Given the description of an element on the screen output the (x, y) to click on. 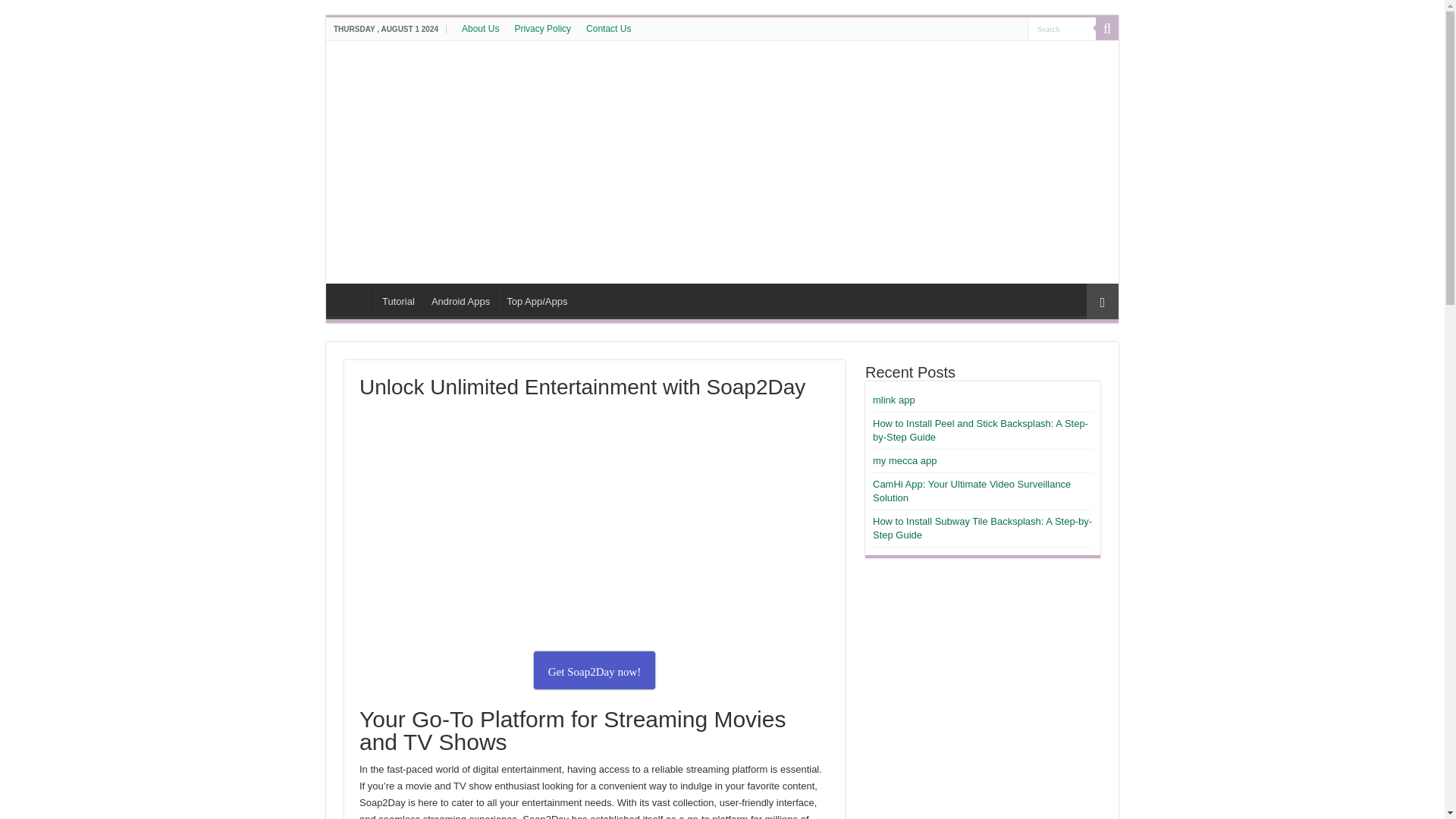
Search (1061, 28)
mlink app (893, 399)
Random Article (1102, 301)
Atechguide (409, 76)
Contact Us (608, 28)
About Us (480, 28)
Privacy Policy (542, 28)
Search (1107, 28)
CamHi App: Your Ultimate Video Surveillance Solution (971, 490)
Search (1061, 28)
Android Apps (460, 299)
Search (1061, 28)
Get Soap2Day now! (594, 670)
How to Install Subway Tile Backsplash: A Step-by-Step Guide (982, 527)
my mecca app (904, 460)
